Given the description of an element on the screen output the (x, y) to click on. 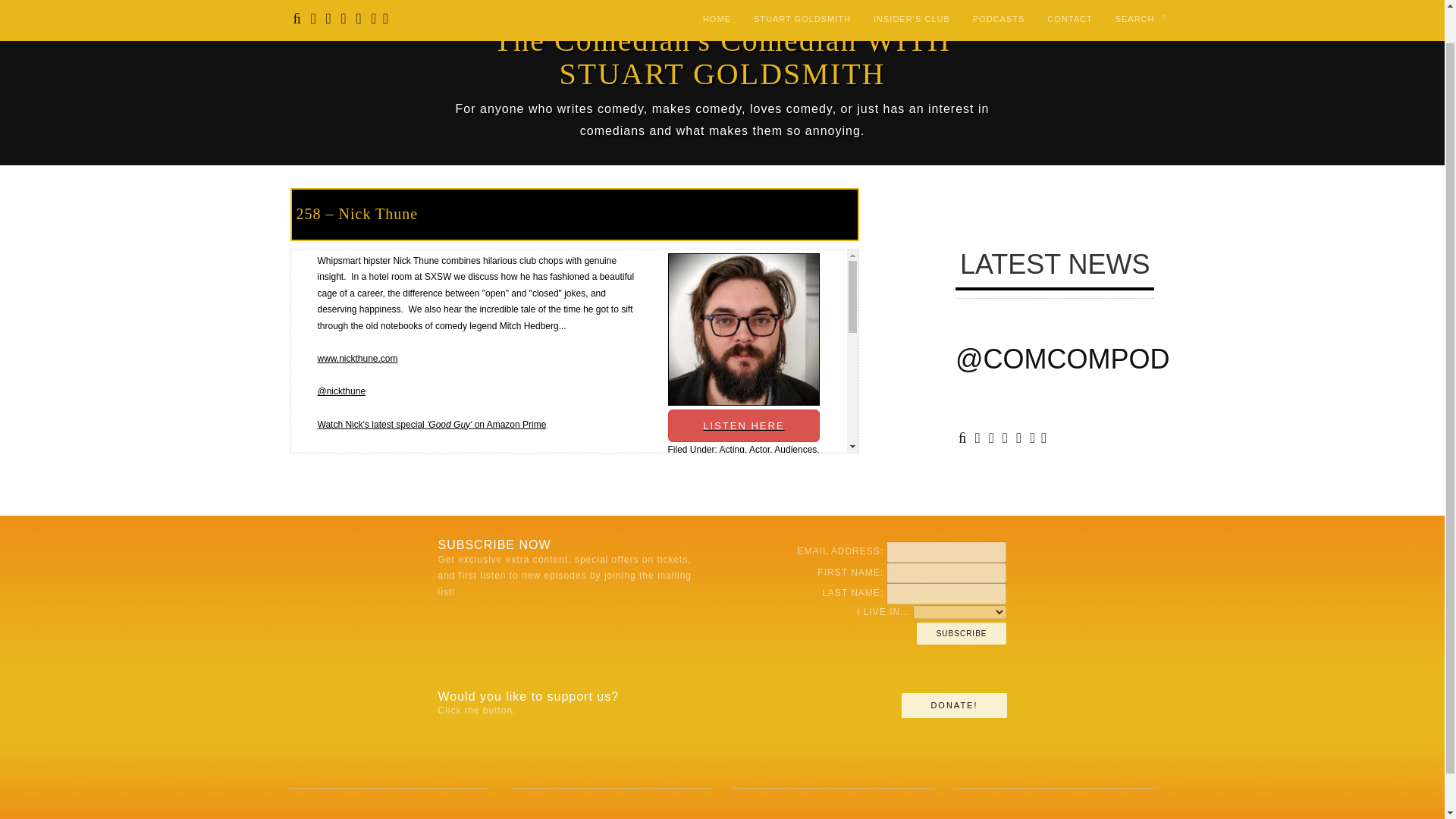
Audiences (795, 449)
Happy Endings (734, 466)
www.comedianscomedian.com (379, 636)
Knocked Up (748, 481)
LISTEN HERE (742, 383)
Actor (759, 449)
PODCASTS (998, 0)
HOME (716, 0)
STUART GOLDSMITH (801, 0)
Mitch Hedburg (732, 490)
